Given the description of an element on the screen output the (x, y) to click on. 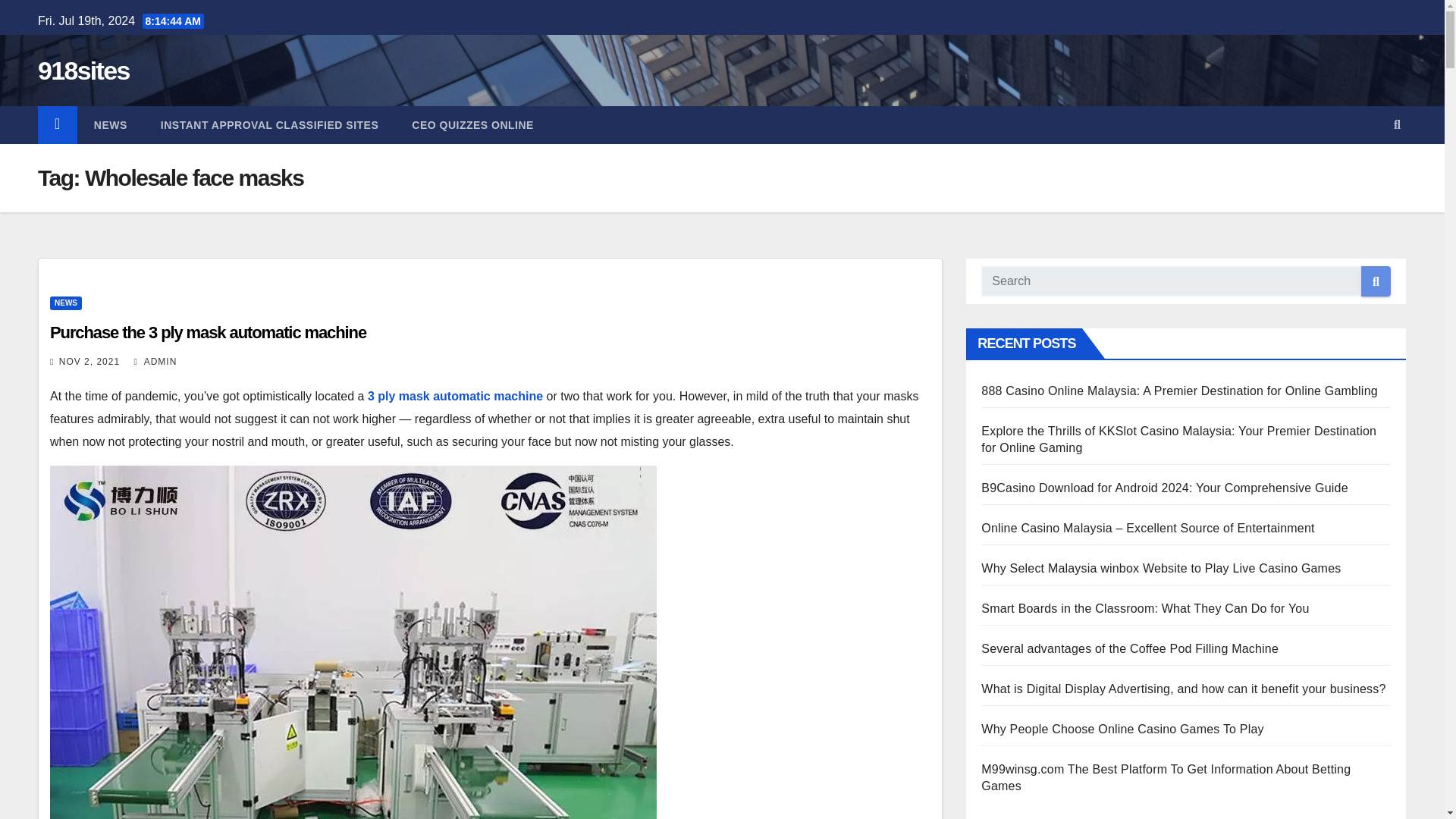
3 ply mask automatic machine (455, 395)
News (110, 125)
CEO QUIZZES ONLINE (472, 125)
918sites (83, 70)
NOV 2, 2021 (89, 361)
Purchase the 3 ply mask automatic machine (207, 332)
NEWS (110, 125)
CEO Quizzes Online (472, 125)
NEWS (65, 303)
INSTANT APPROVAL CLASSIFIED SITES (269, 125)
Instant Approval Classified Sites (269, 125)
ADMIN (155, 361)
